Given the description of an element on the screen output the (x, y) to click on. 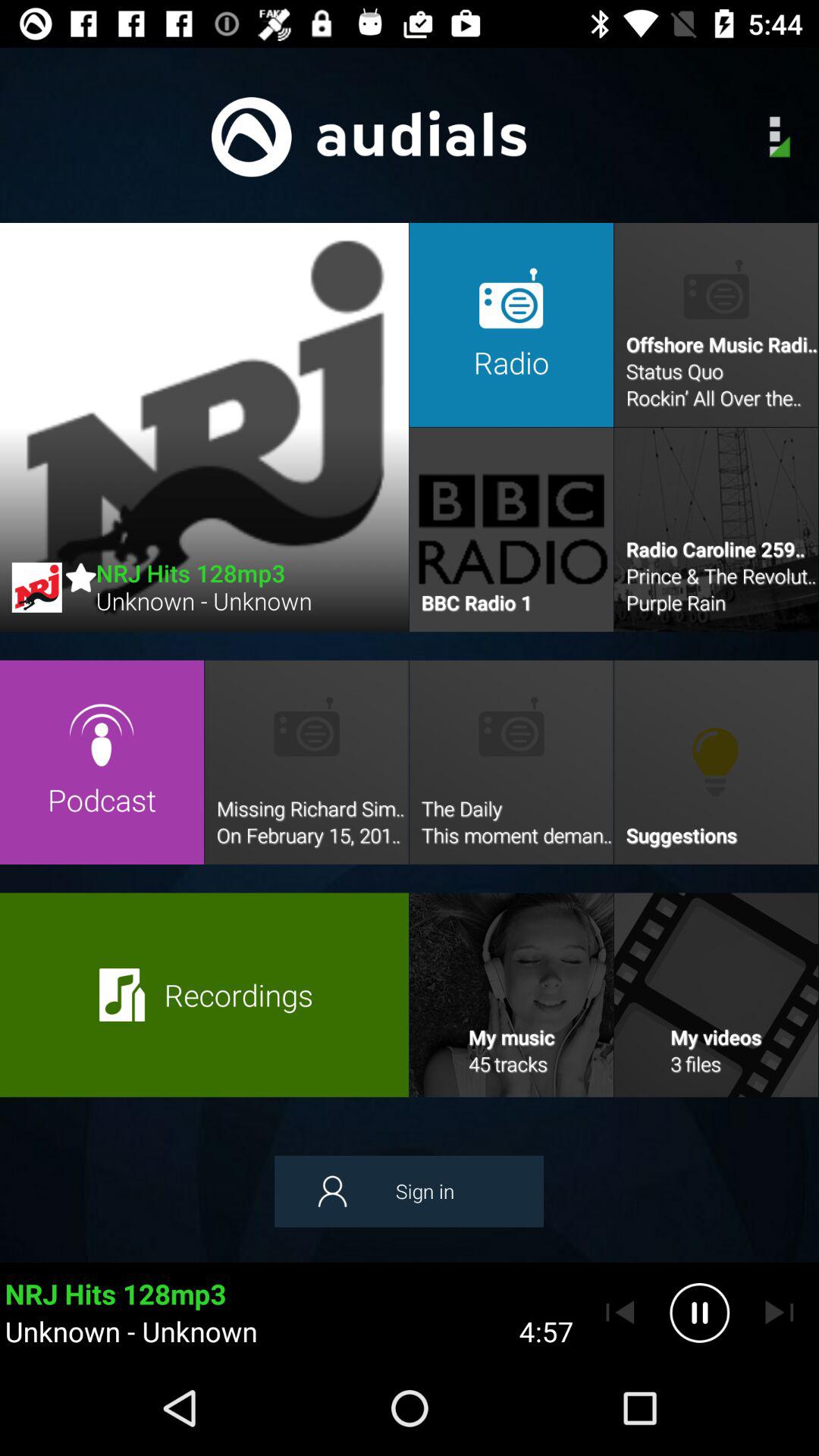
go forward (779, 1312)
